Given the description of an element on the screen output the (x, y) to click on. 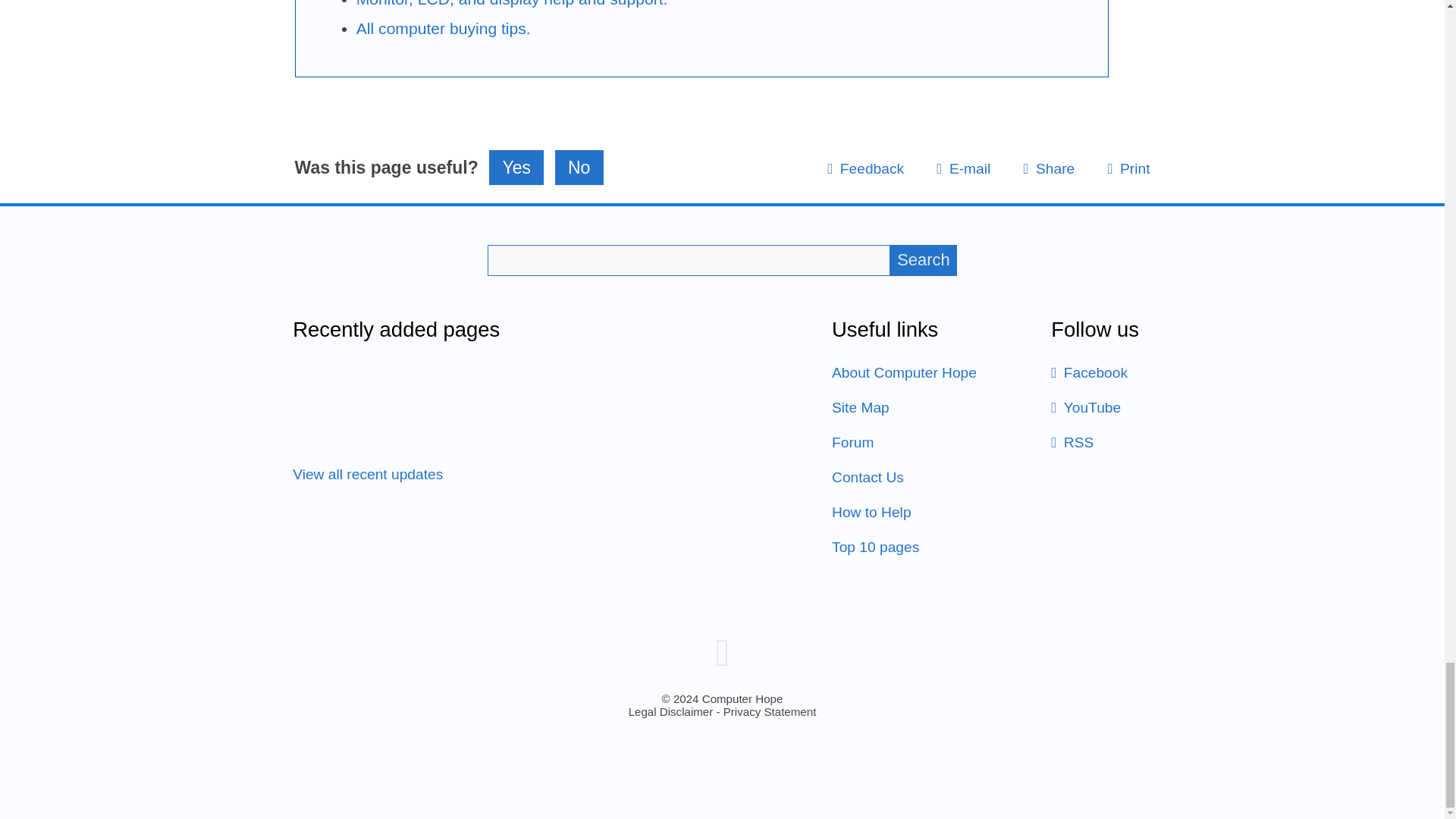
How to Help (871, 512)
Share this page with friends and social networks (1048, 168)
No (579, 167)
About Computer Hope (903, 372)
Monitor, LCD, and display help and support. (512, 3)
Top 10 pages (874, 546)
Print (1128, 168)
Computer Hope home page (721, 652)
Give us your feedback about this page (865, 168)
E-mail (963, 168)
